Given the description of an element on the screen output the (x, y) to click on. 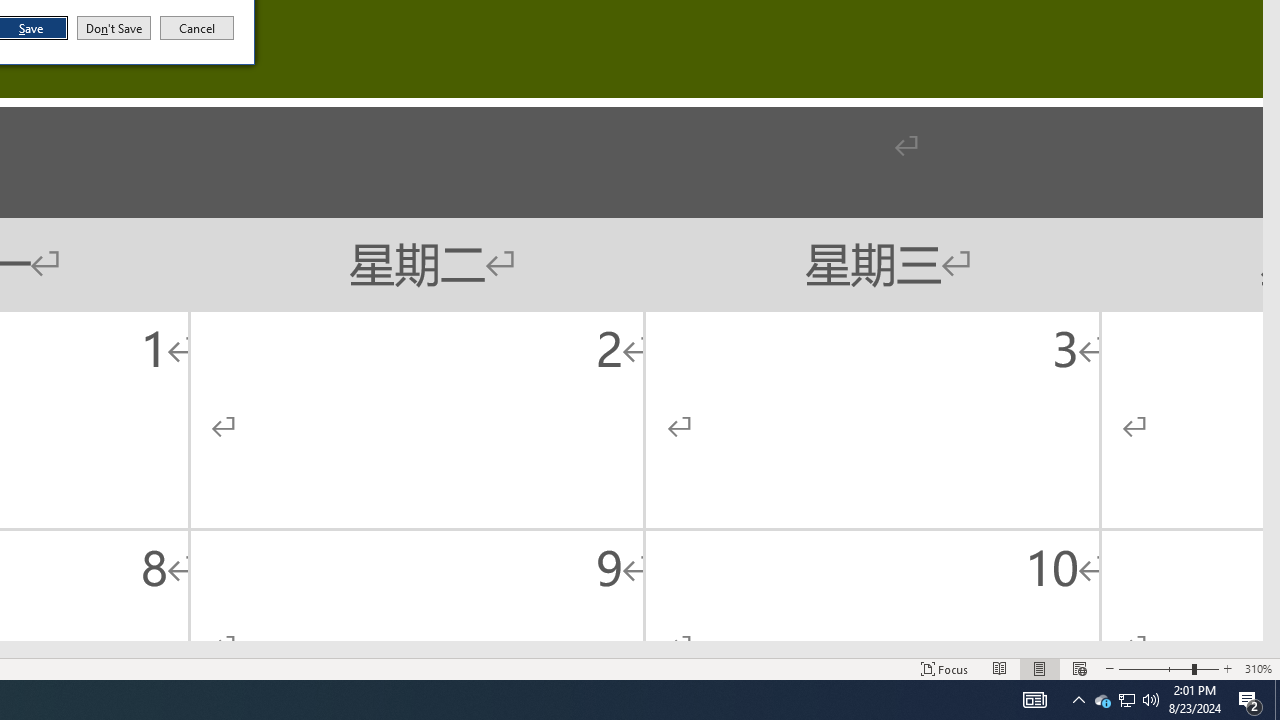
Don't Save (113, 27)
User Promoted Notification Area (1126, 699)
